Given the description of an element on the screen output the (x, y) to click on. 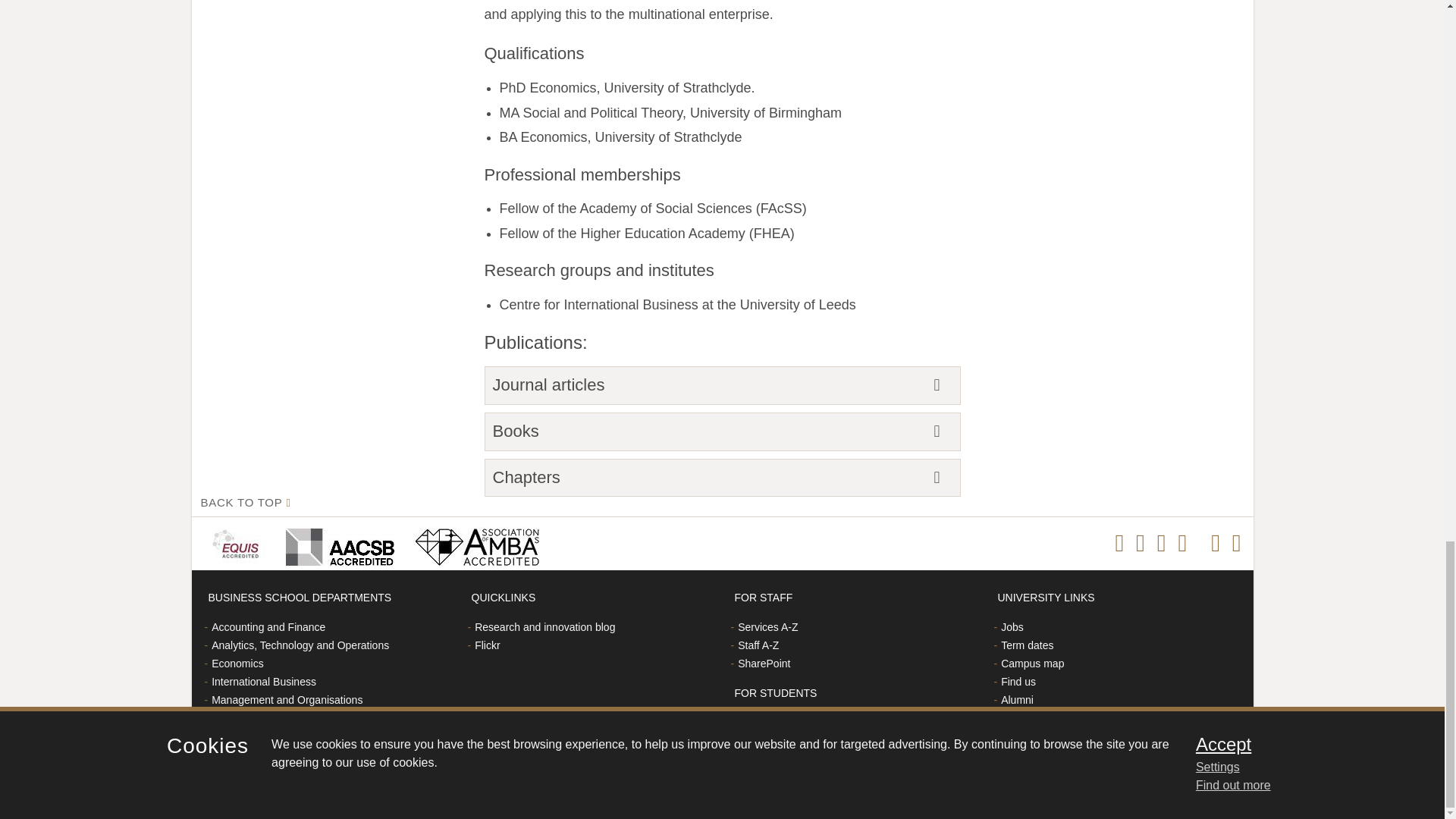
Visit 1-EFMD (237, 543)
Visit 3-AMBA (472, 543)
Visit 2-AACSB (337, 543)
